Given the description of an element on the screen output the (x, y) to click on. 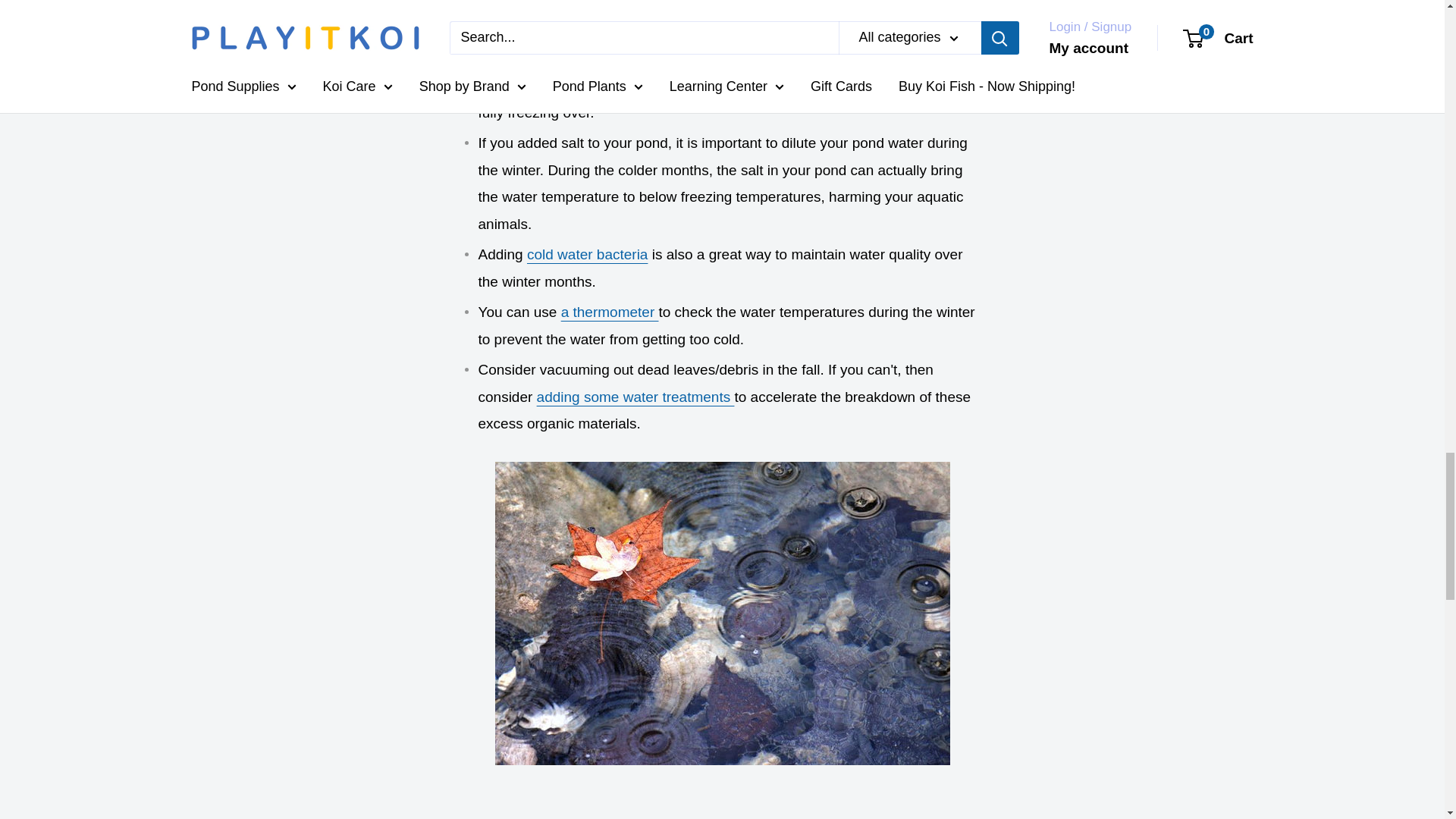
Pond de-icer (893, 58)
cold water bacteria (587, 254)
Winter prep (636, 396)
Pond Aerator (806, 58)
Thermometer (609, 311)
